Given the description of an element on the screen output the (x, y) to click on. 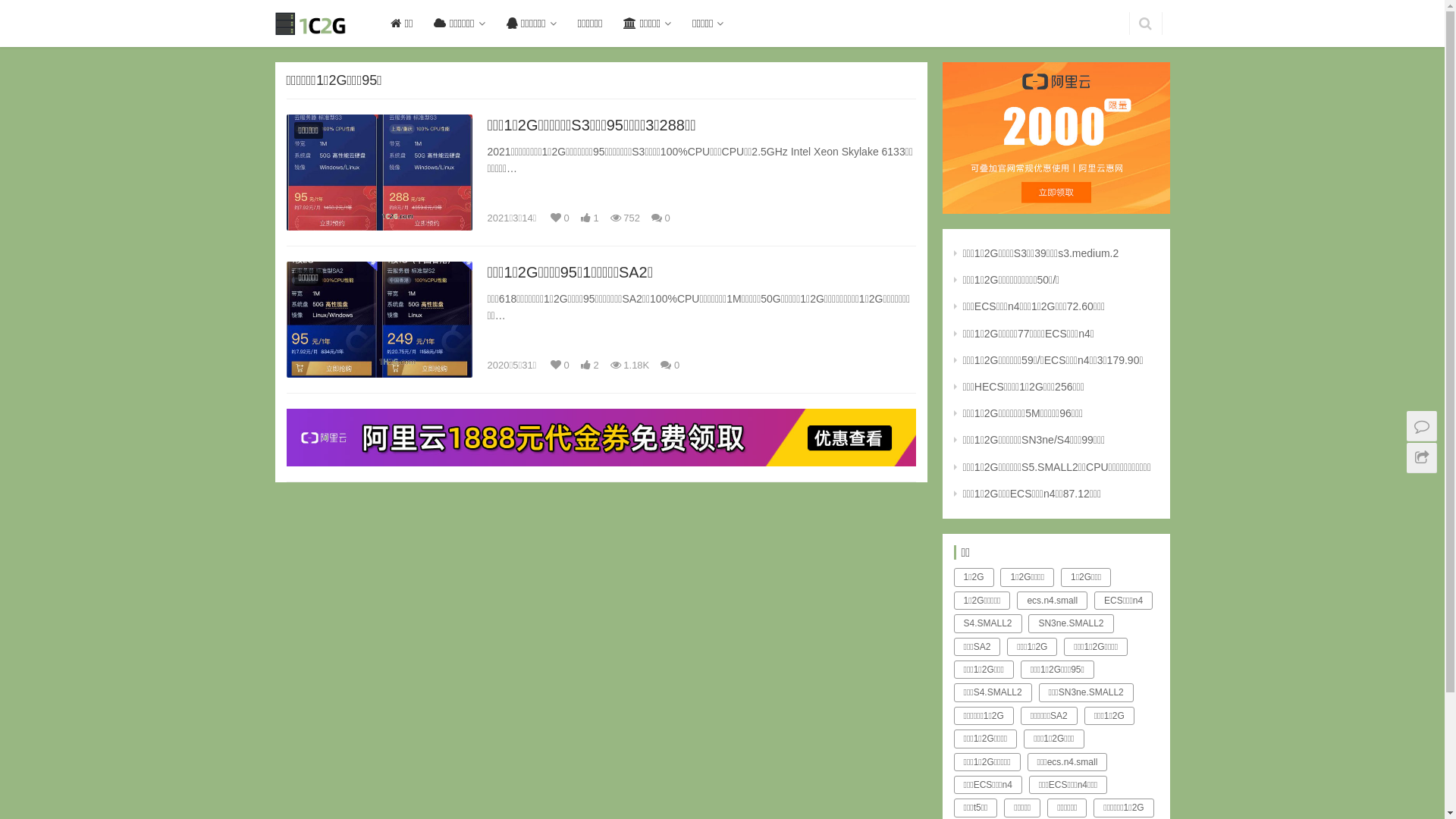
0 Element type: text (660, 218)
S4.SMALL2 Element type: text (987, 623)
0 Element type: text (669, 365)
ecs.n4.small Element type: text (1051, 600)
SN3ne.SMALL2 Element type: text (1070, 623)
